Given the description of an element on the screen output the (x, y) to click on. 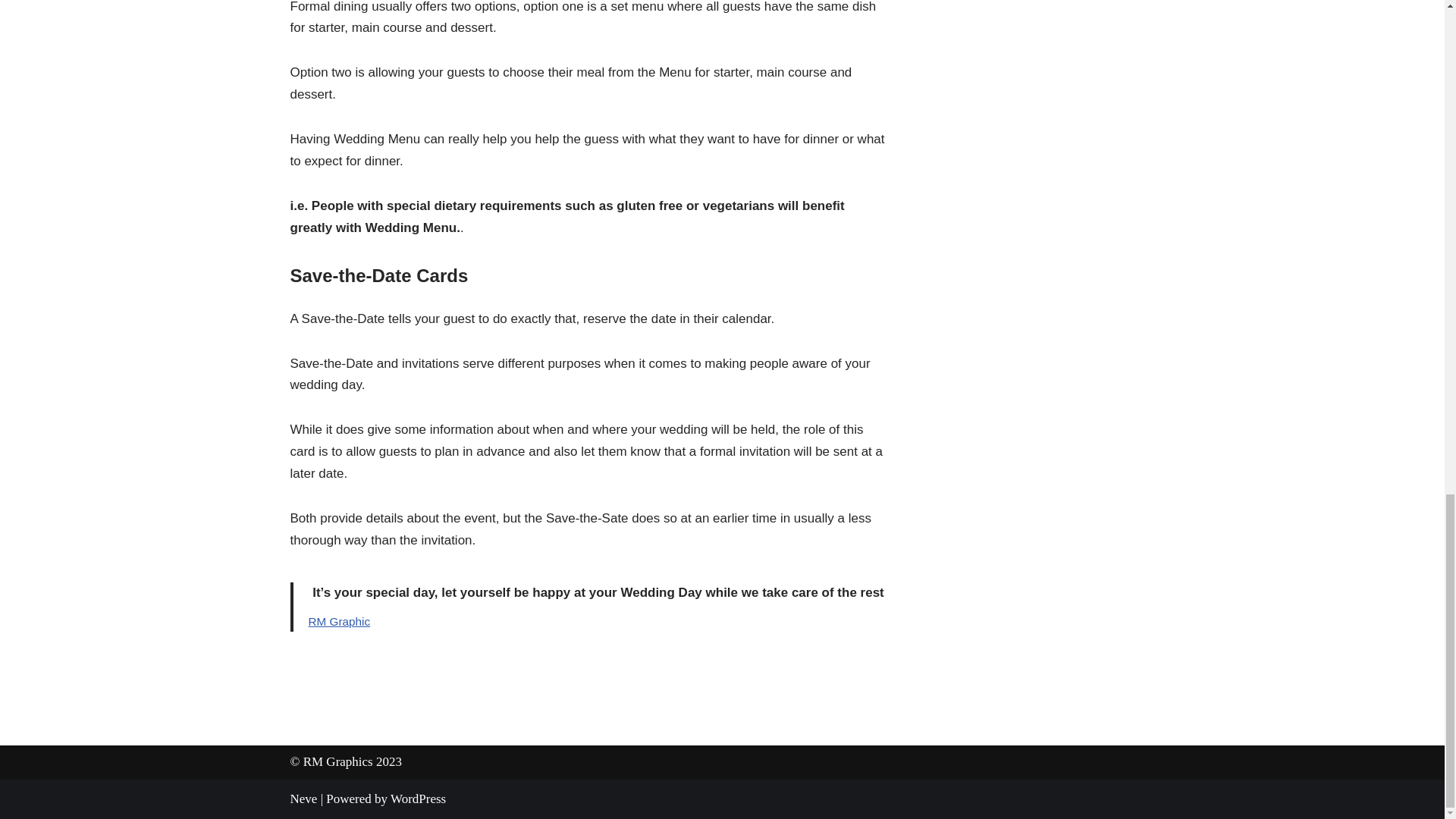
RM Graphic (338, 621)
Contact Us (338, 621)
Neve (303, 798)
WordPress (417, 798)
